Given the description of an element on the screen output the (x, y) to click on. 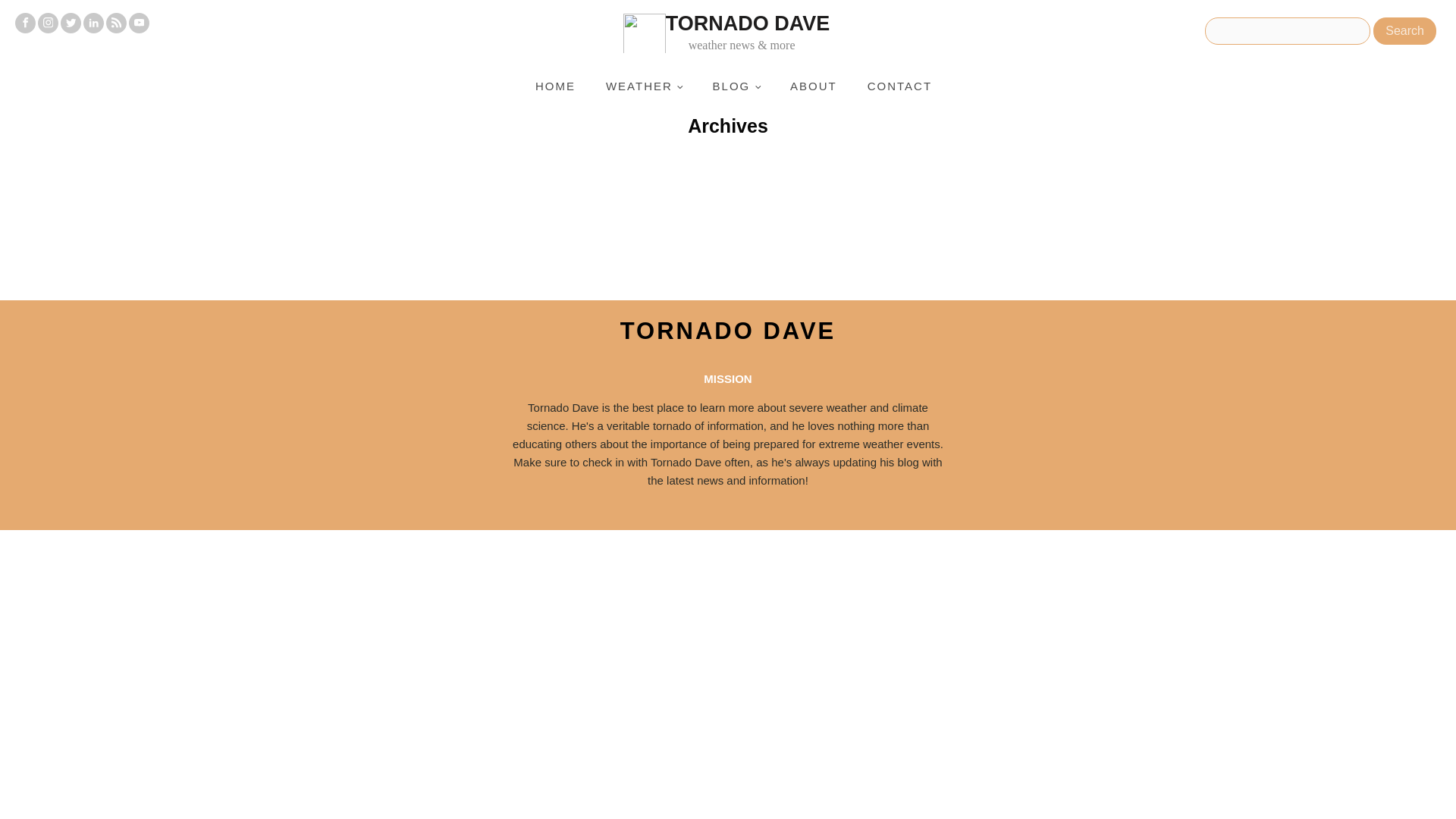
TORNADO DAVE (727, 330)
ABOUT (812, 86)
CONTACT (899, 86)
Search (1404, 31)
HOME (555, 86)
BLOG (735, 86)
Search (1404, 31)
WEATHER (644, 86)
